Given the description of an element on the screen output the (x, y) to click on. 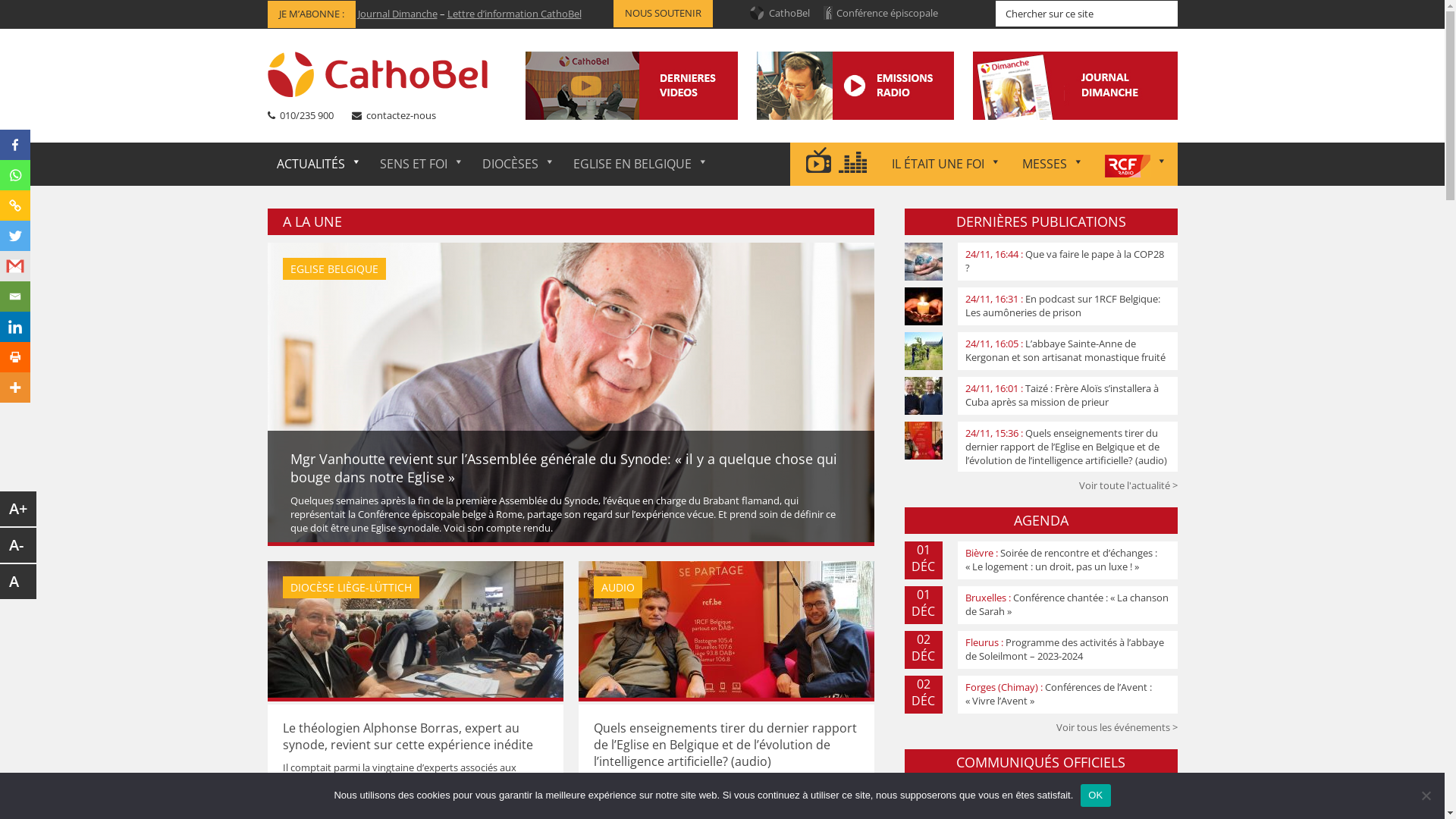
  Cathobel TV Element type: text (683, 113)
Linkedin Element type: hover (15, 326)
A+ Element type: text (18, 508)
CathoBel Element type: text (788, 12)
Facebook Element type: hover (15, 144)
More Element type: hover (15, 387)
EGLISE EN BELGIQUE Element type: text (640, 163)
contactez-nous Element type: text (400, 115)
EGLISE BELGIQUE Element type: text (569, 395)
MESSES Element type: text (1052, 163)
Print Element type: hover (15, 357)
AUDIO Element type: text (725, 632)
Copy Link Element type: hover (15, 205)
Le site de l'Eglise Catholique en Belgique Element type: text (380, 74)
Twitter Element type: hover (15, 235)
Google Gmail Element type: hover (15, 266)
Whatsapp Element type: hover (15, 175)
OK Element type: text (1095, 795)
  Cathobel radio Element type: text (891, 98)
  Messes TV Element type: text (680, 98)
Email Element type: hover (15, 296)
A Element type: text (18, 581)
SENS ET FOI Element type: text (421, 163)
Chercher Element type: text (1176, 0)
Journal Dimanche Element type: text (397, 13)
  Messes radio Element type: text (887, 84)
AGENDA Element type: text (1040, 520)
A- Element type: text (18, 544)
